Given the description of an element on the screen output the (x, y) to click on. 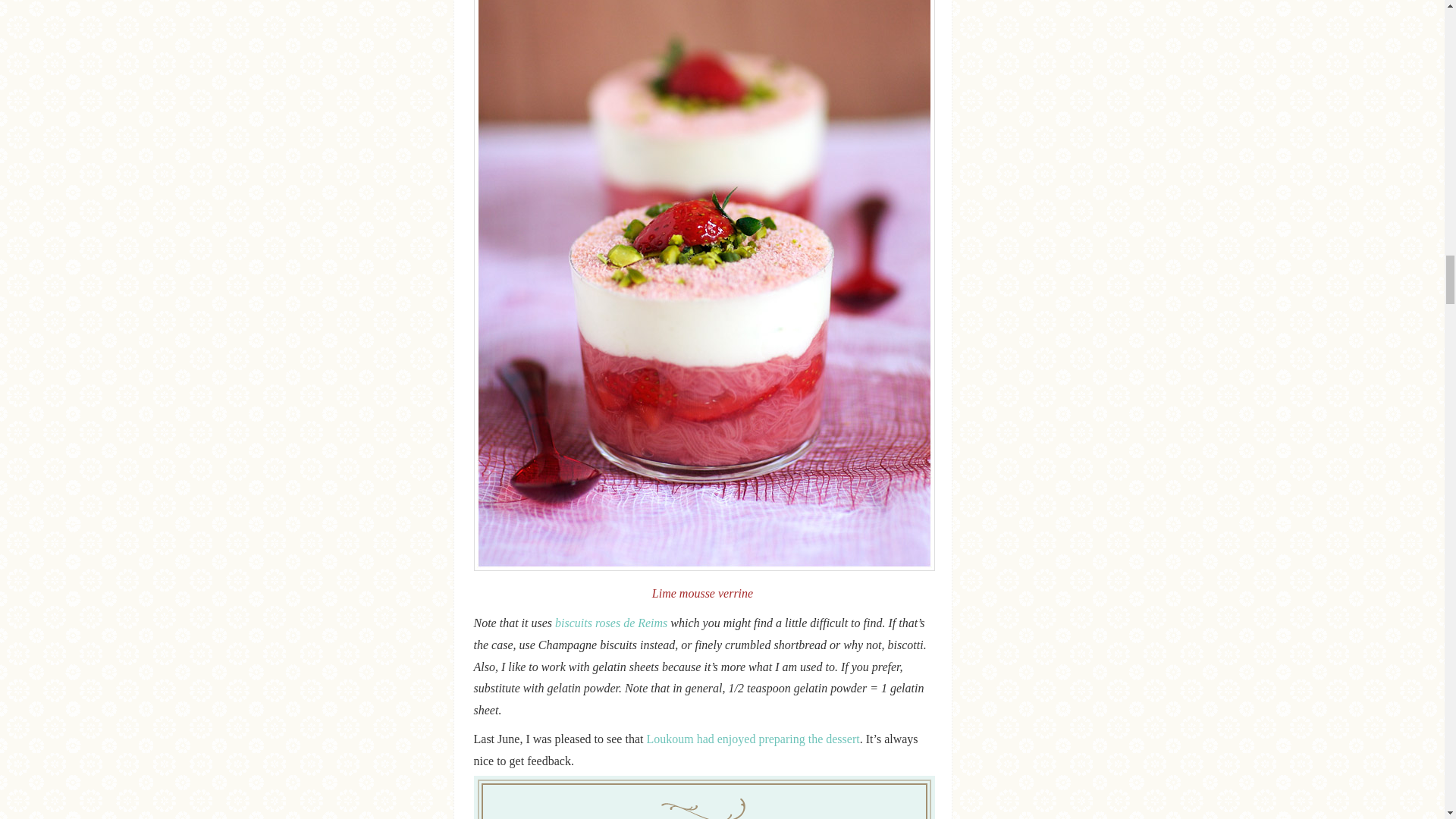
Loukoum had enjoyed preparing the dessert (752, 738)
biscuits roses de Reims (610, 622)
